Given the description of an element on the screen output the (x, y) to click on. 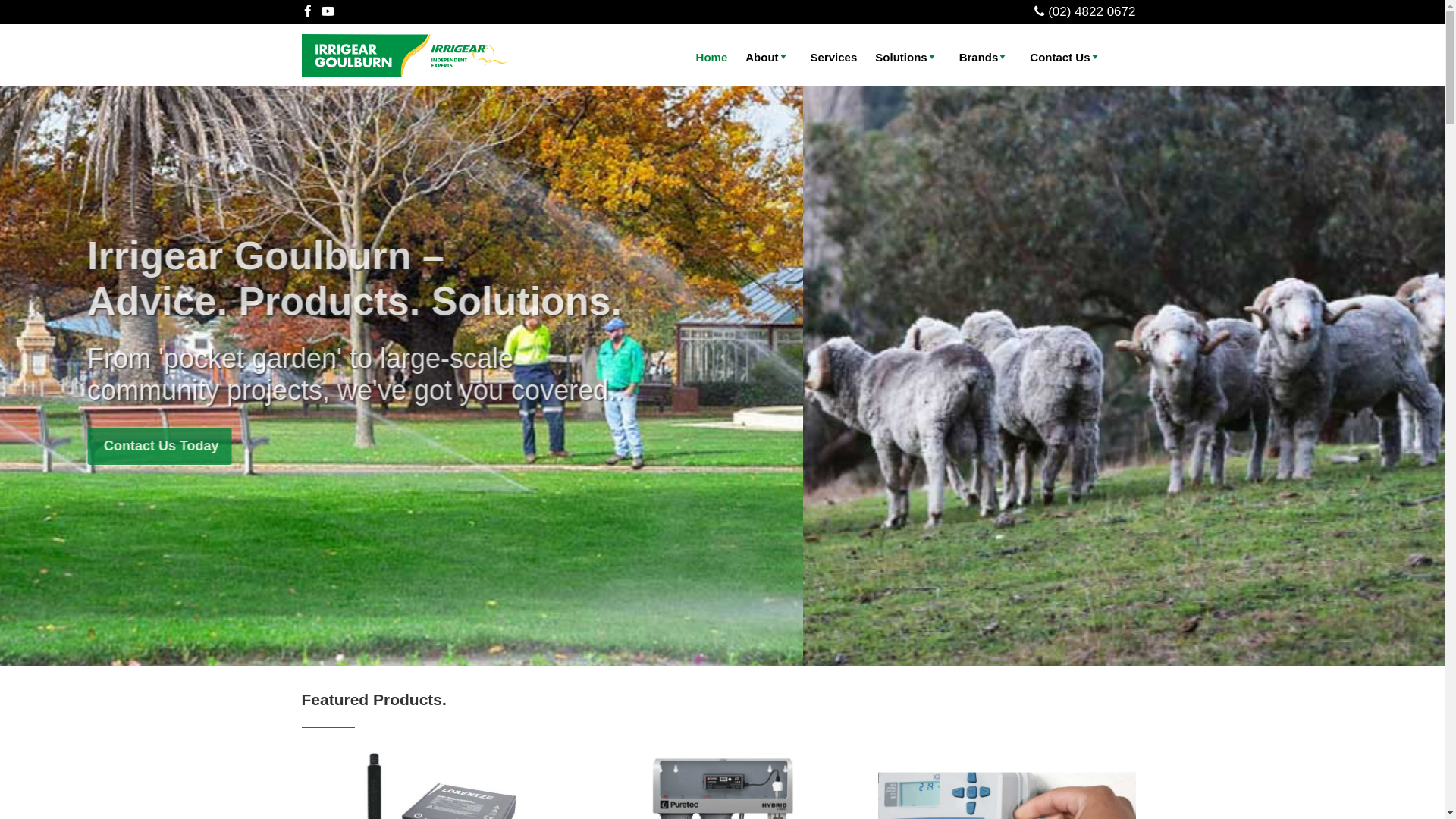
(02) 4822 0672 Element type: text (1091, 11)
Home Element type: text (712, 57)
Services Element type: text (833, 57)
About Element type: text (768, 57)
Brands Element type: text (985, 57)
Solutions Element type: text (907, 57)
Contact Us Today Element type: text (479, 445)
Contact Us Element type: text (1066, 57)
